Given the description of an element on the screen output the (x, y) to click on. 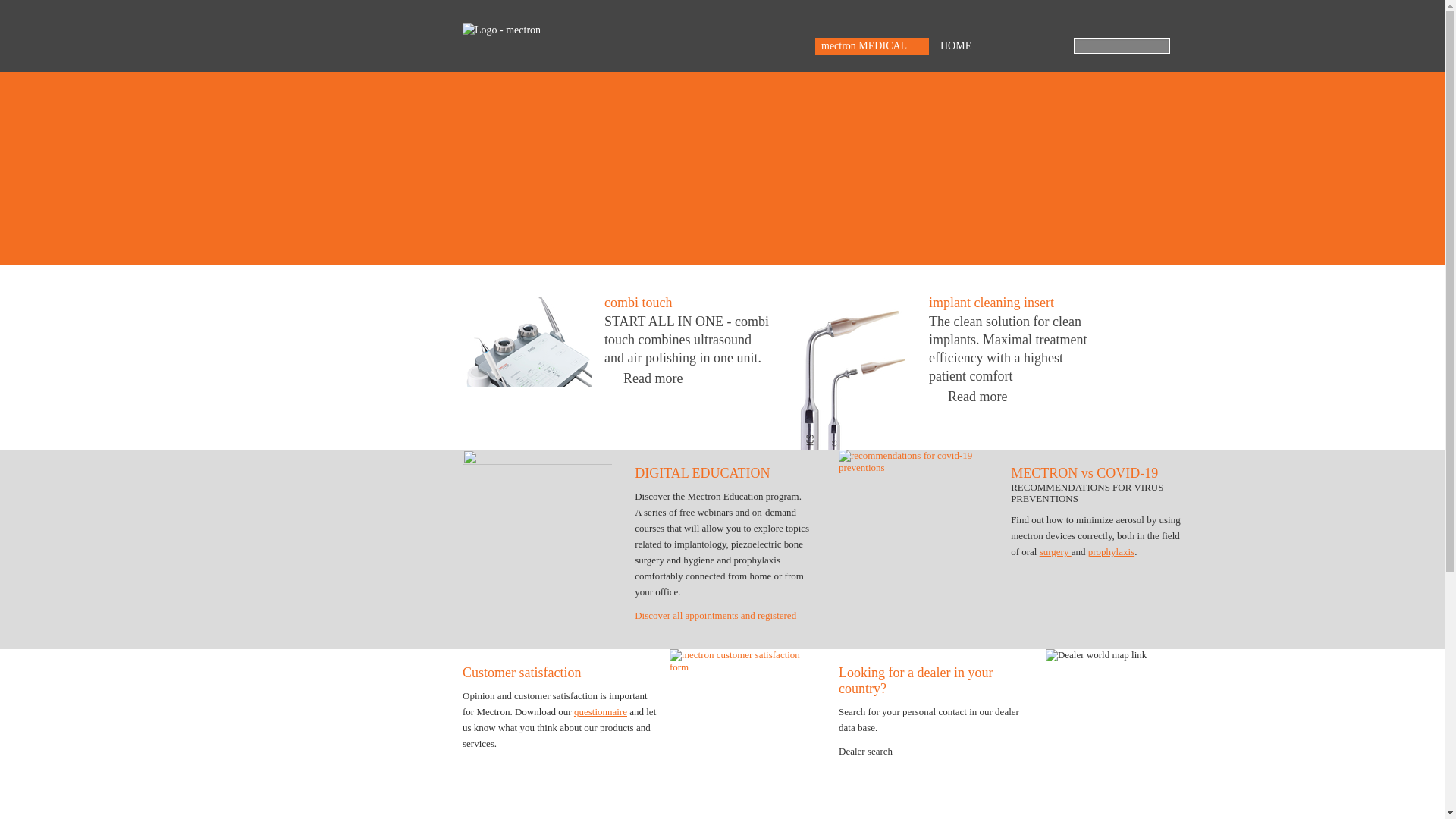
HOME (955, 45)
mectron MEDICAL (871, 46)
